Given the description of an element on the screen output the (x, y) to click on. 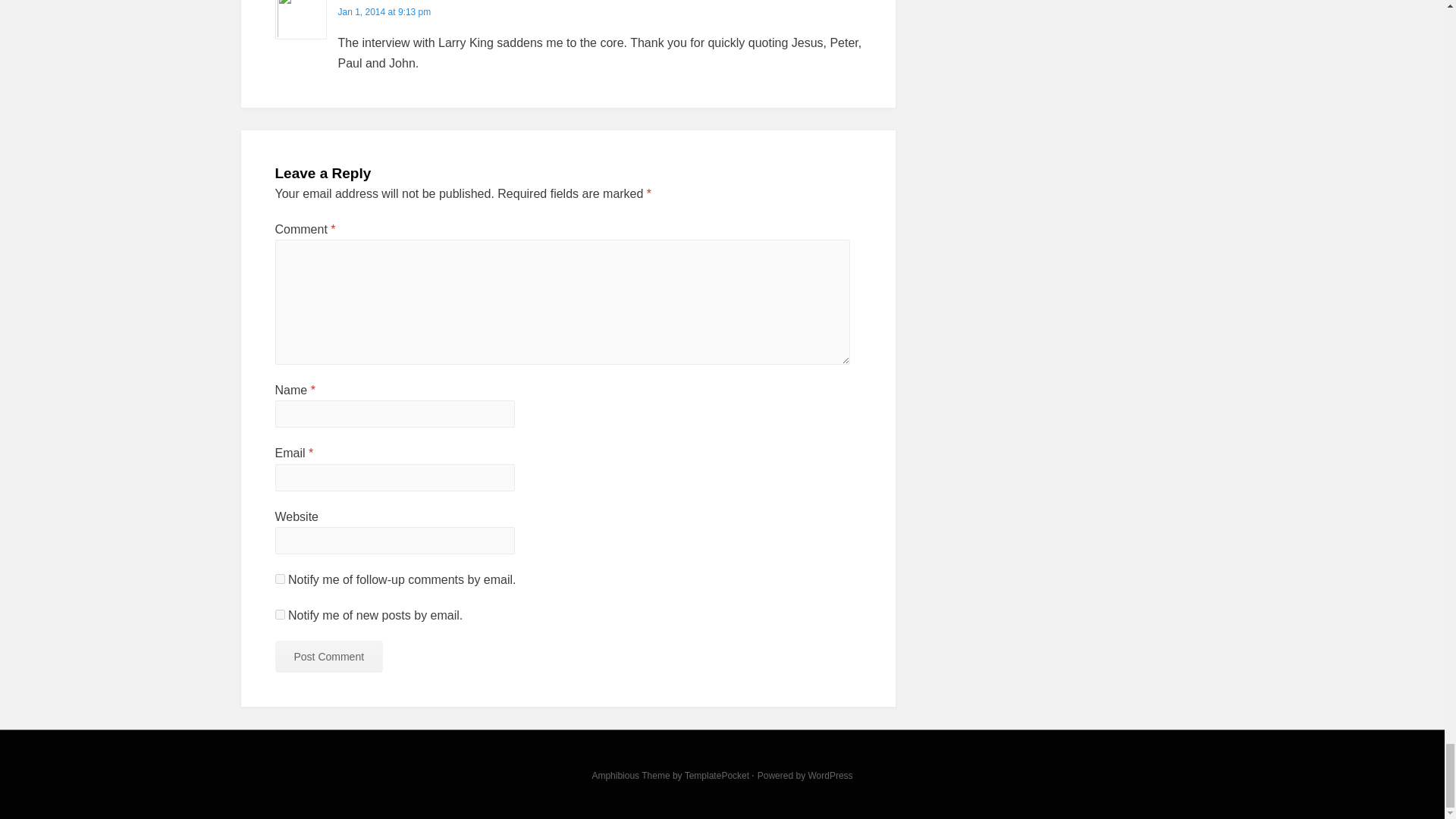
subscribe (279, 614)
Post Comment (328, 656)
subscribe (279, 578)
